Given the description of an element on the screen output the (x, y) to click on. 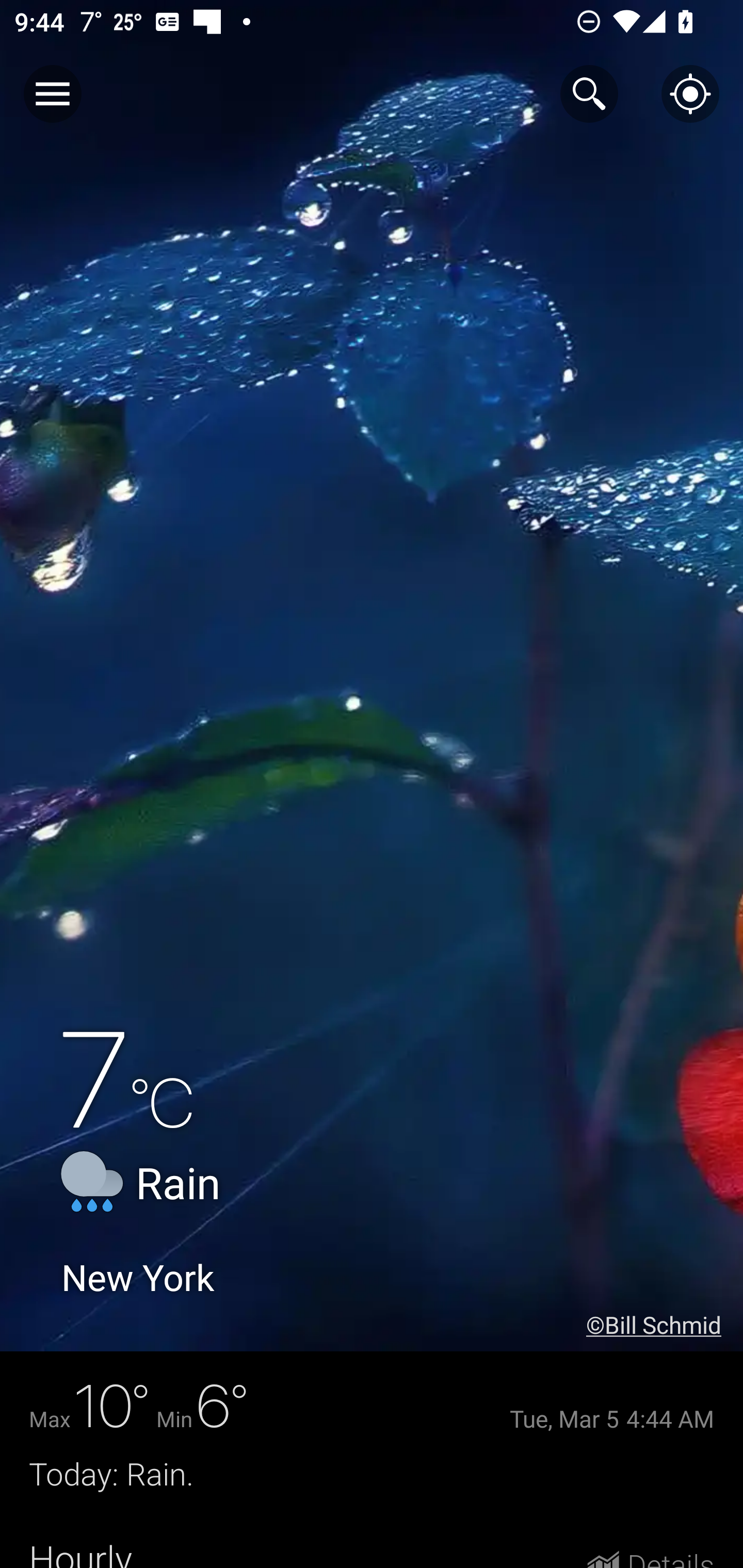
©Bill Schmid (664, 1324)
